Given the description of an element on the screen output the (x, y) to click on. 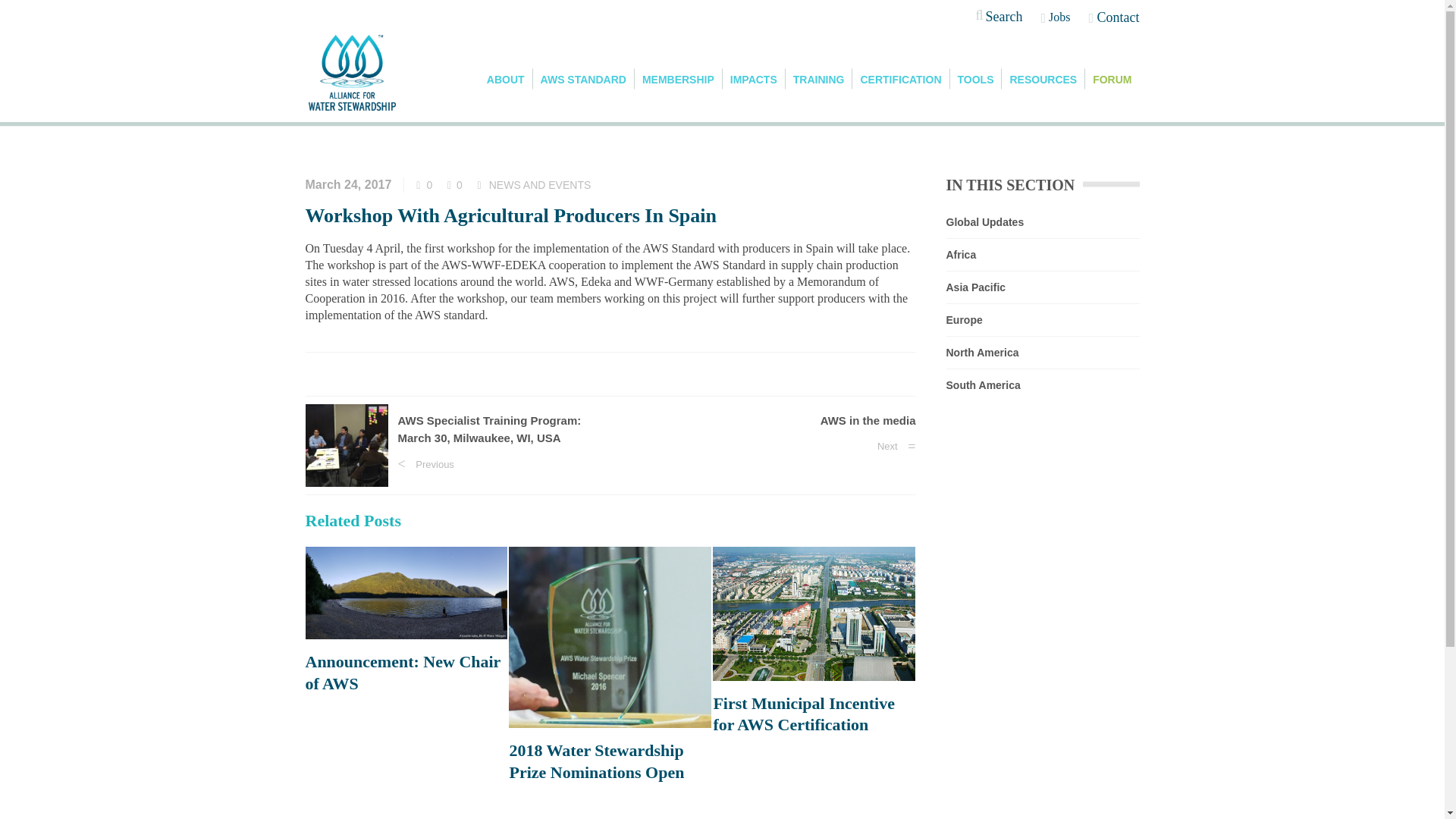
News and Events (680, 105)
Search (996, 58)
RESOURCES (1042, 78)
Announcement: New Chair of AWS (405, 672)
Contact (1112, 17)
Like this (424, 184)
AWS STANDARD (583, 78)
0 (454, 184)
Alliance for Water Stewardship (549, 105)
Search (998, 18)
